Given the description of an element on the screen output the (x, y) to click on. 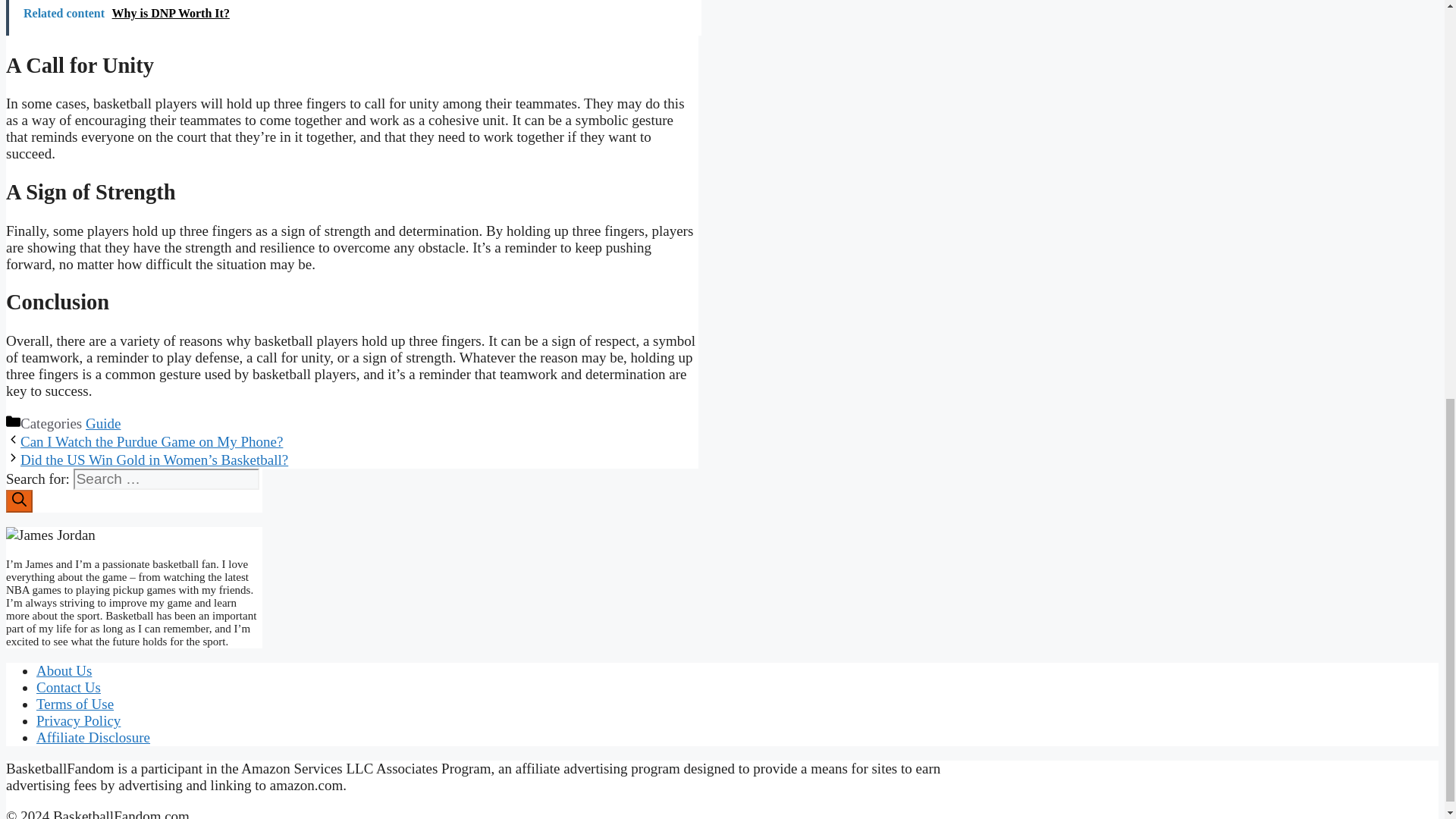
Related content  Why is DNP Worth It? (353, 18)
Can I Watch the Purdue Game on My Phone? (151, 441)
Scroll back to top (1406, 751)
Search for: (166, 478)
Contact Us (68, 687)
Affiliate Disclosure (92, 737)
Guide (102, 423)
Privacy Policy (78, 720)
About Us (63, 670)
Terms of Use (74, 703)
